Given the description of an element on the screen output the (x, y) to click on. 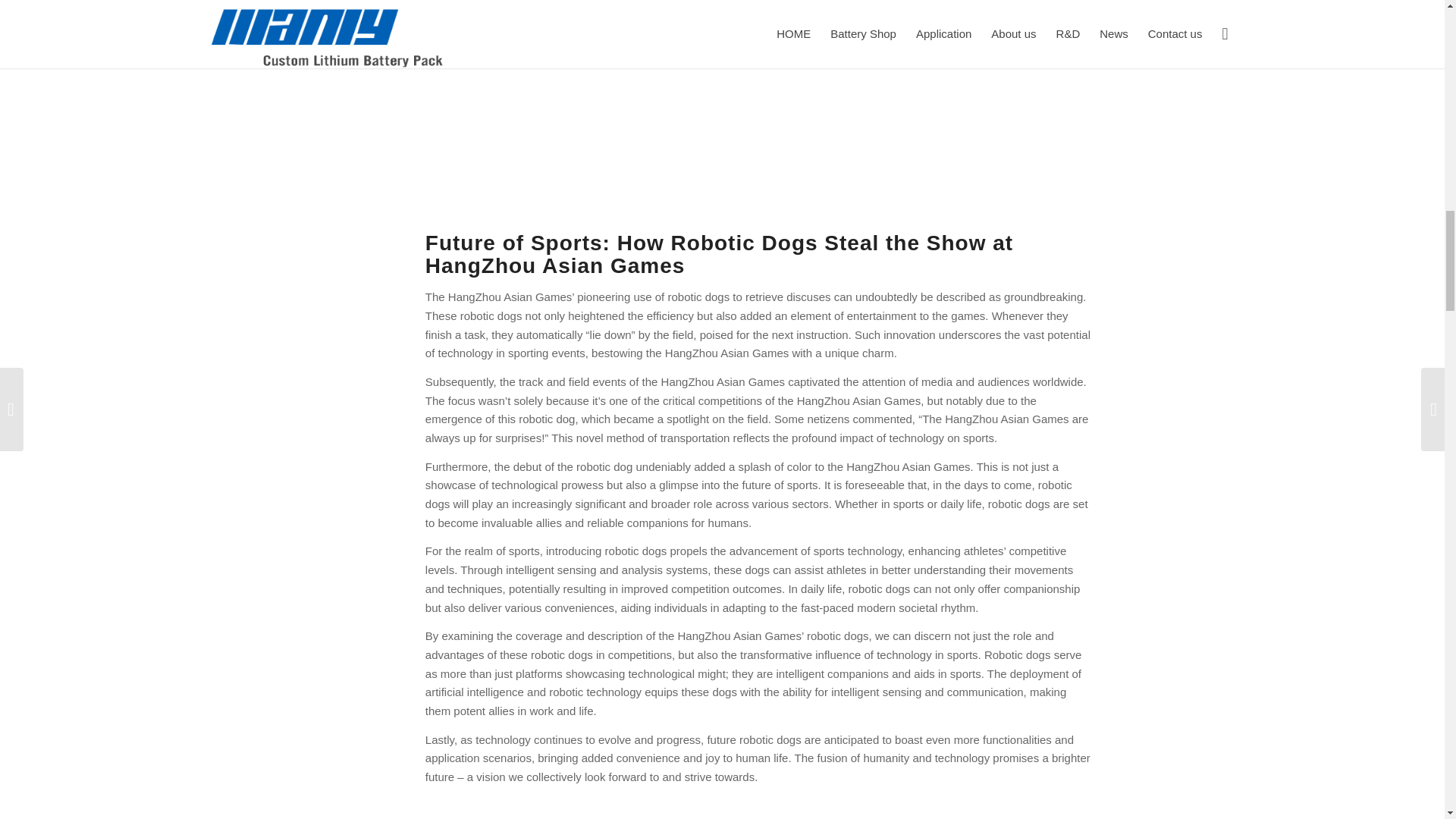
Hangzhou asian games 2023: robotic dog revolution - manly (758, 99)
Hangzhou asian games 2023: robotic dog revolution - manly (758, 807)
